Given the description of an element on the screen output the (x, y) to click on. 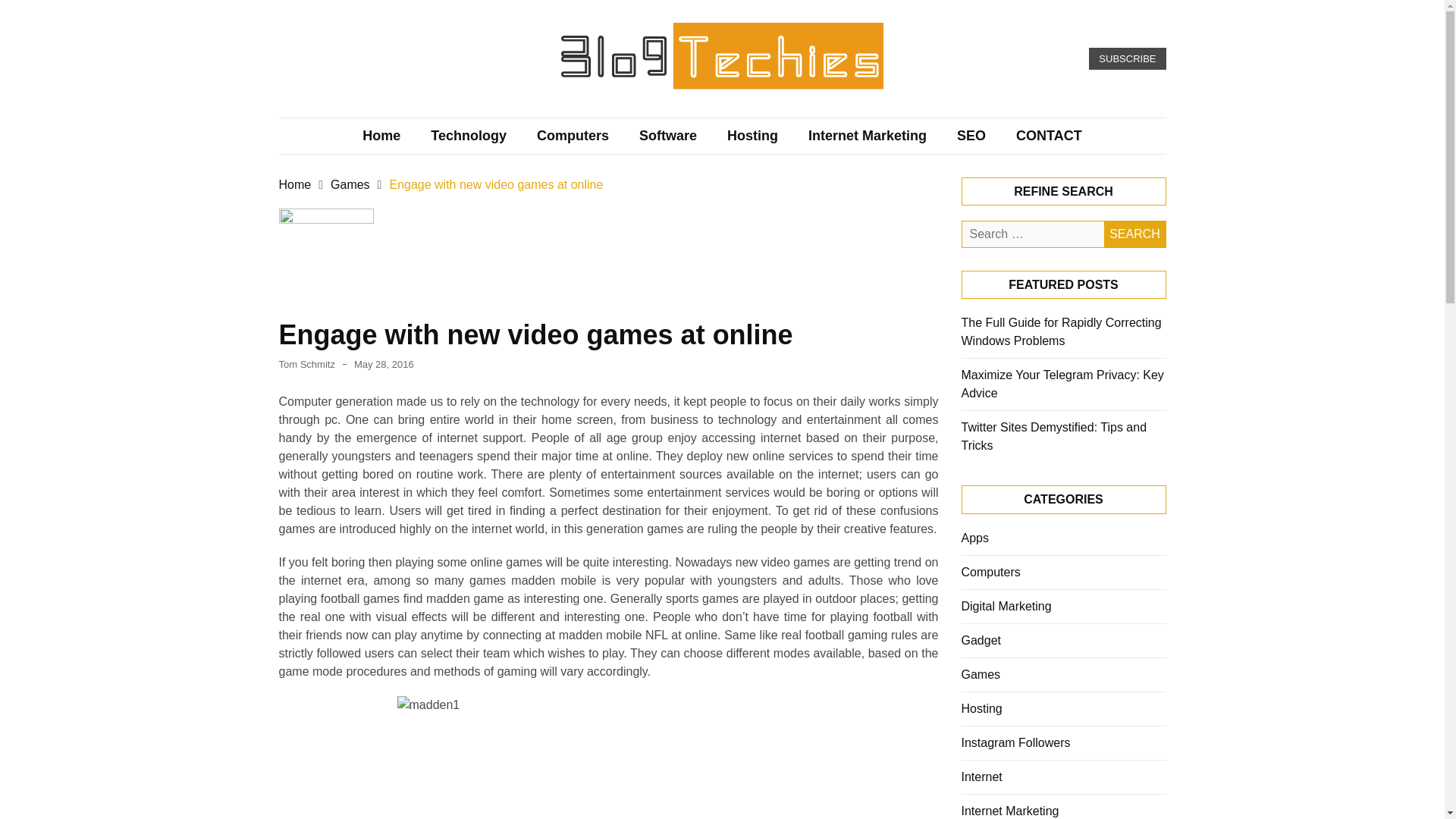
SEO (971, 136)
CONTACT (1049, 136)
SUBSCRIBE (1127, 58)
May 28, 2016 (383, 364)
Search (1134, 234)
Software (667, 136)
Blog for techies (609, 110)
Home (295, 184)
Technology (467, 136)
Internet Marketing (867, 136)
